Given the description of an element on the screen output the (x, y) to click on. 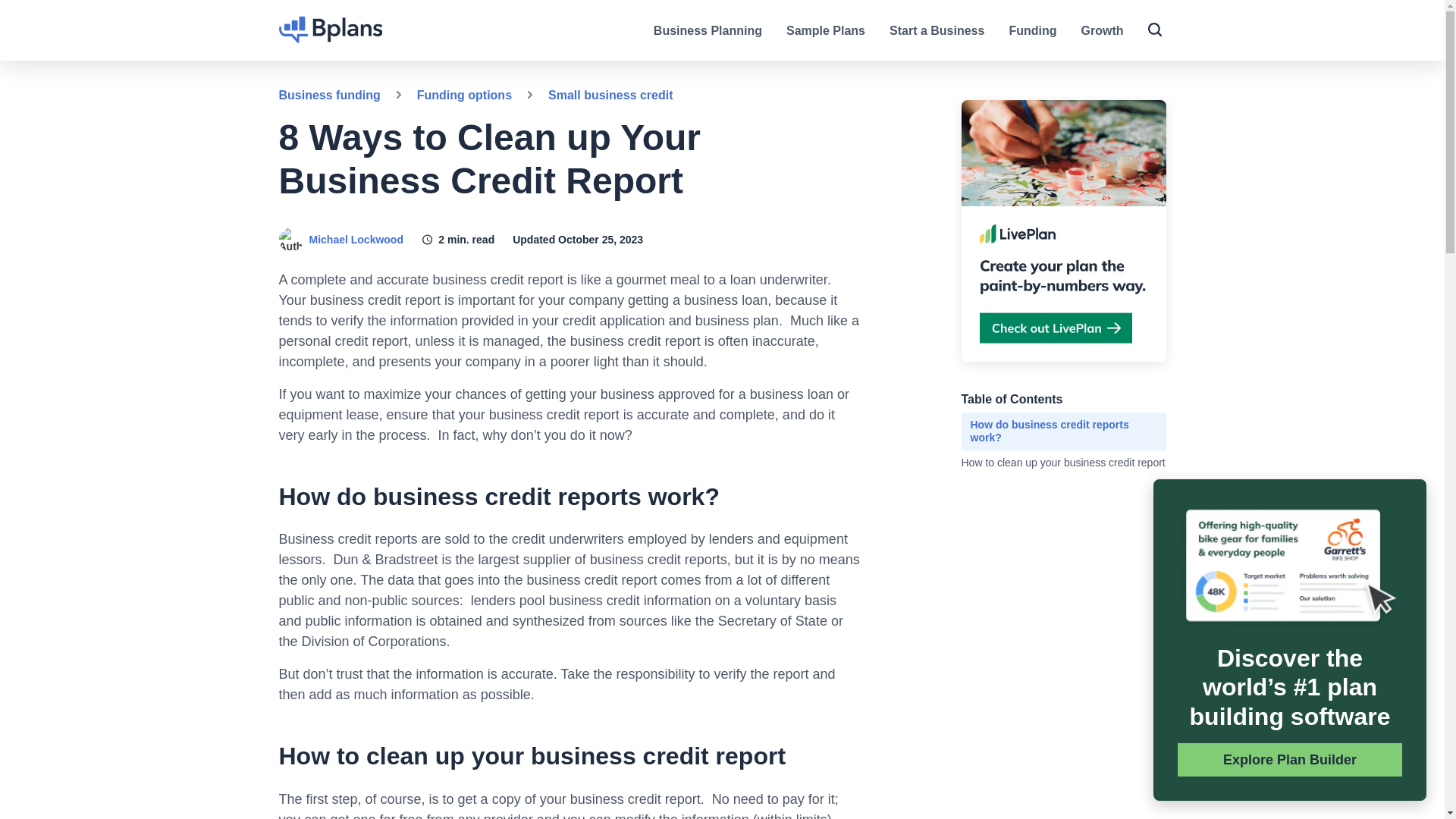
Growth (1102, 30)
Sample Plans (825, 30)
LivePlan pitch example (1289, 567)
Funding (1033, 30)
Start a Business (936, 30)
Author: Michael Lockwood (290, 239)
Business Planning (707, 30)
